Given the description of an element on the screen output the (x, y) to click on. 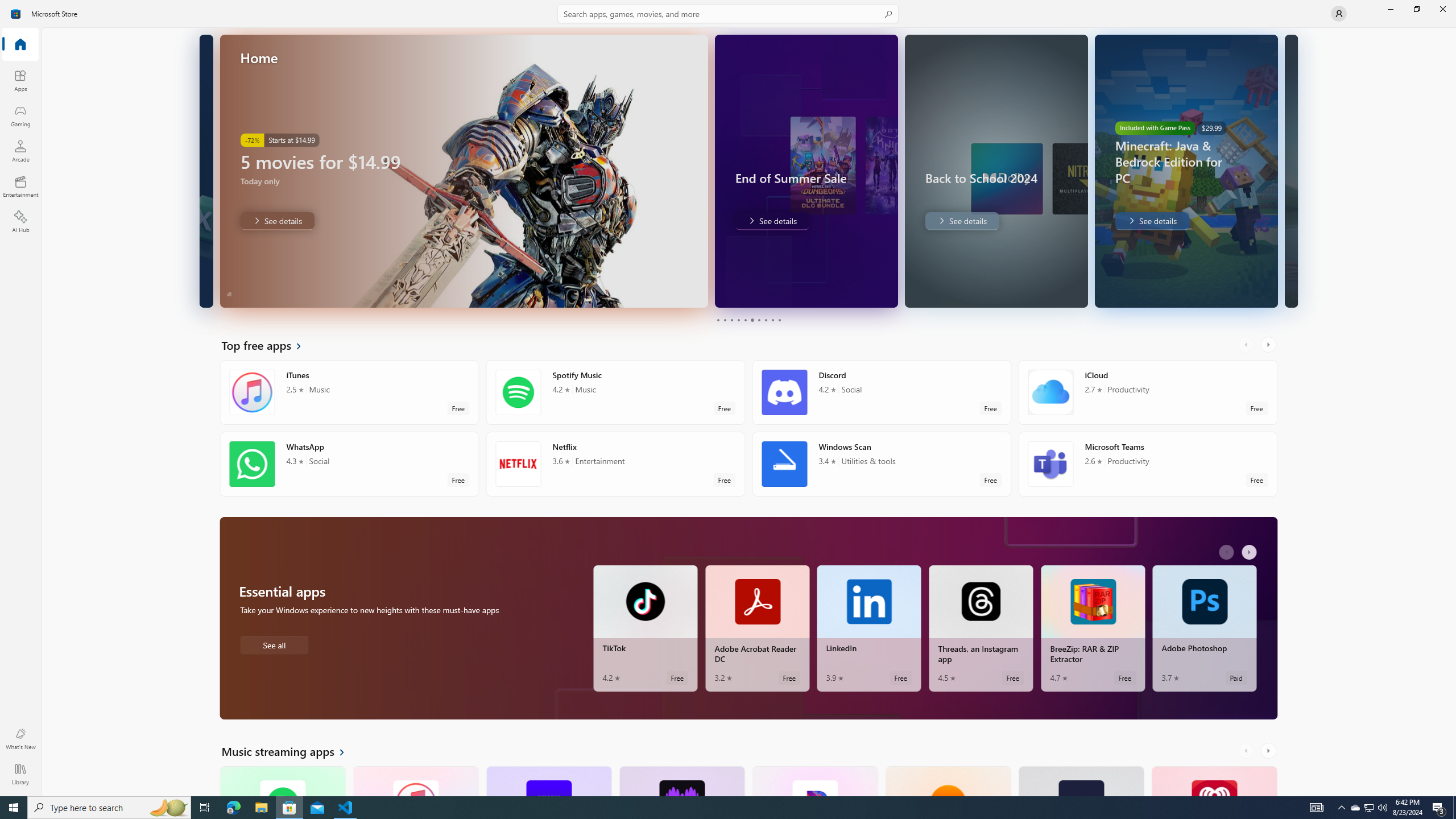
Page 7 (758, 319)
Close Microsoft Store (1442, 9)
End of Summer Sale. Save up to 80%.  . See details (771, 221)
See all  Music streaming apps (289, 750)
Search (727, 13)
Page 10 (779, 319)
Apps (20, 80)
Entertainment (20, 185)
Pandora. Average rating of 4.5 out of five stars. Free   (814, 780)
User profile (1338, 13)
Page 2 (724, 319)
AutomationID: RightScrollButton (1269, 750)
